Given the description of an element on the screen output the (x, y) to click on. 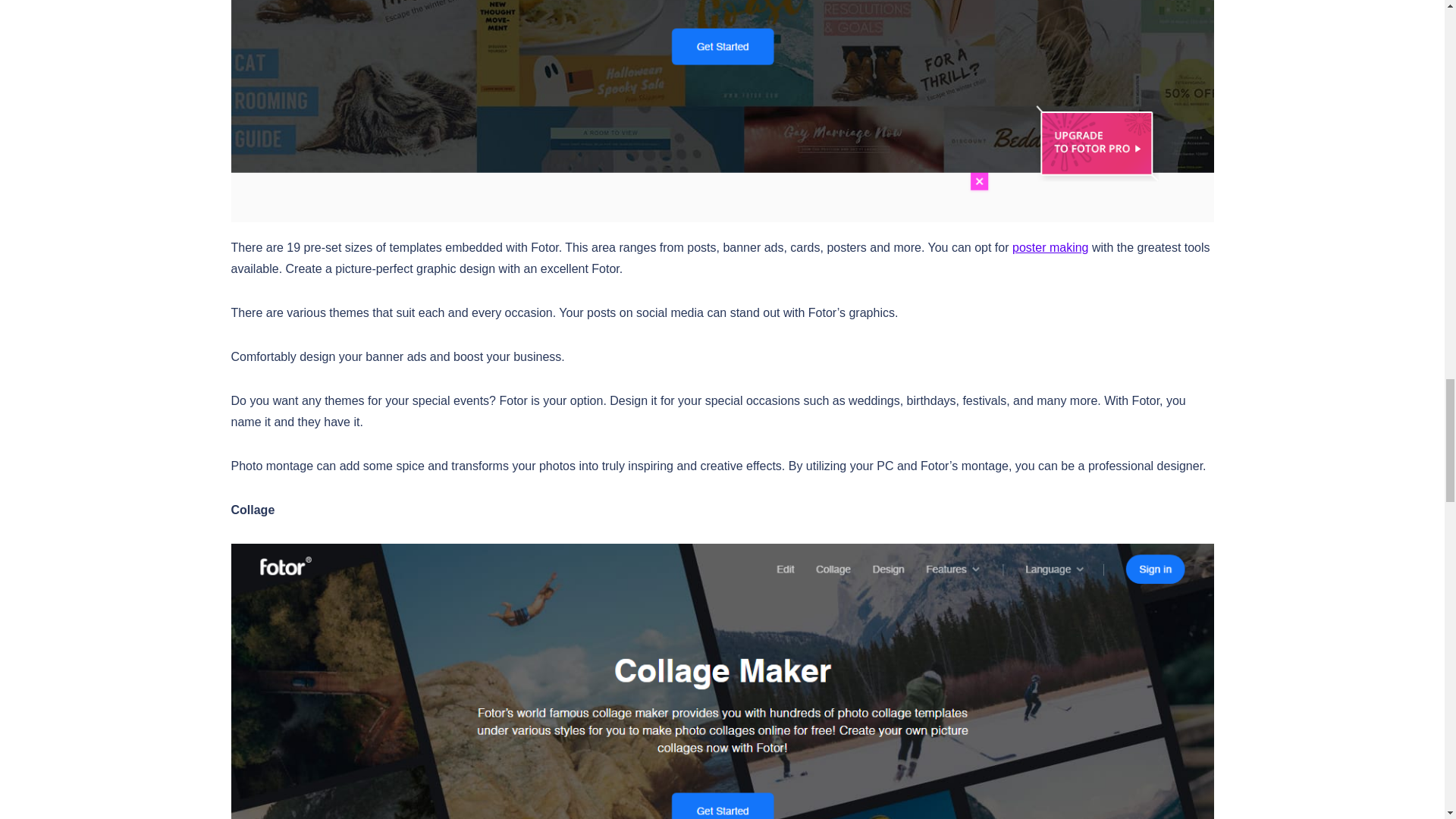
poster making (1050, 246)
